Given the description of an element on the screen output the (x, y) to click on. 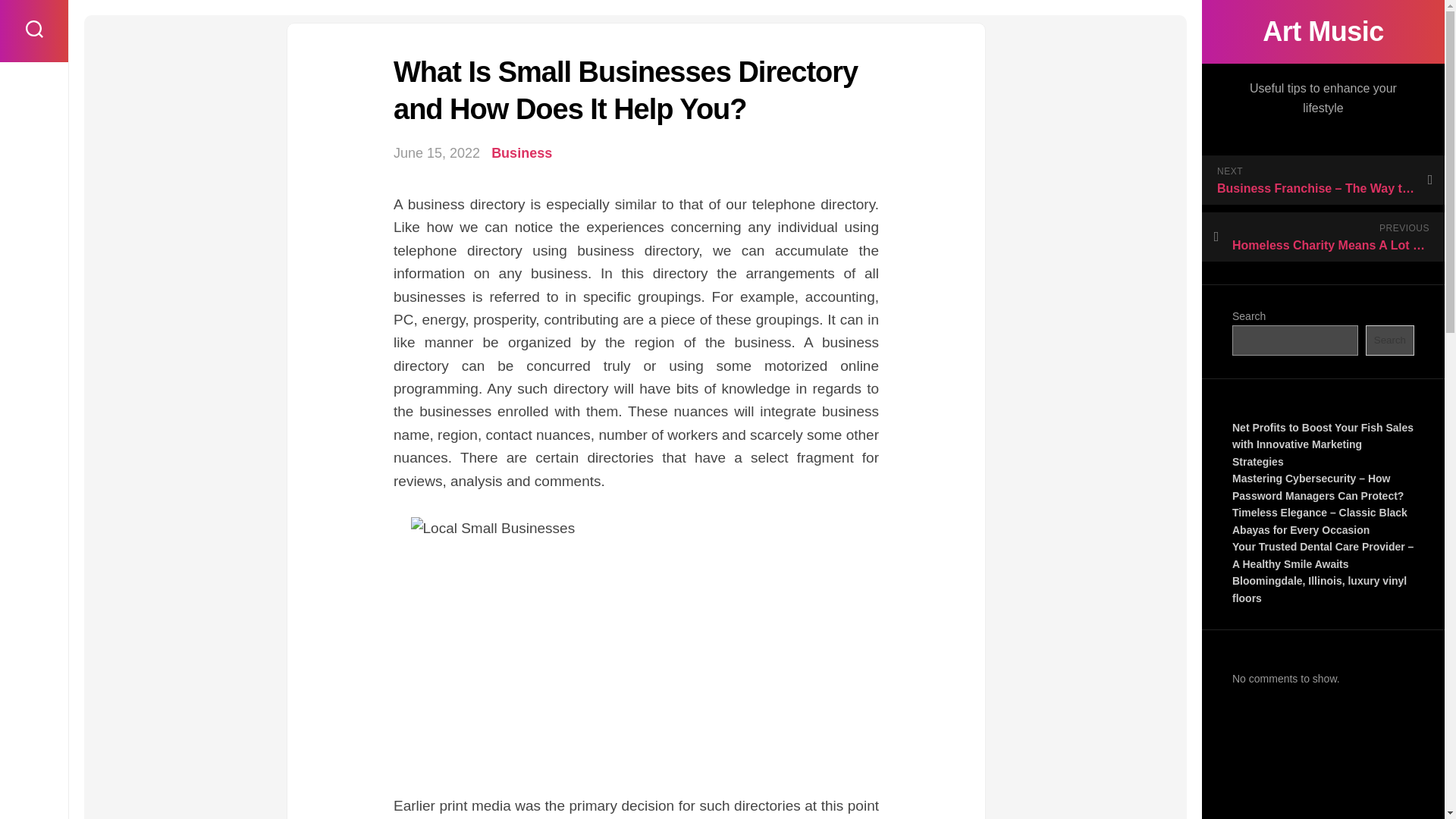
Bloomingdale, Illinois, luxury vinyl floors (1318, 589)
Art Music (1322, 31)
Search (1389, 340)
Business (521, 152)
